Given the description of an element on the screen output the (x, y) to click on. 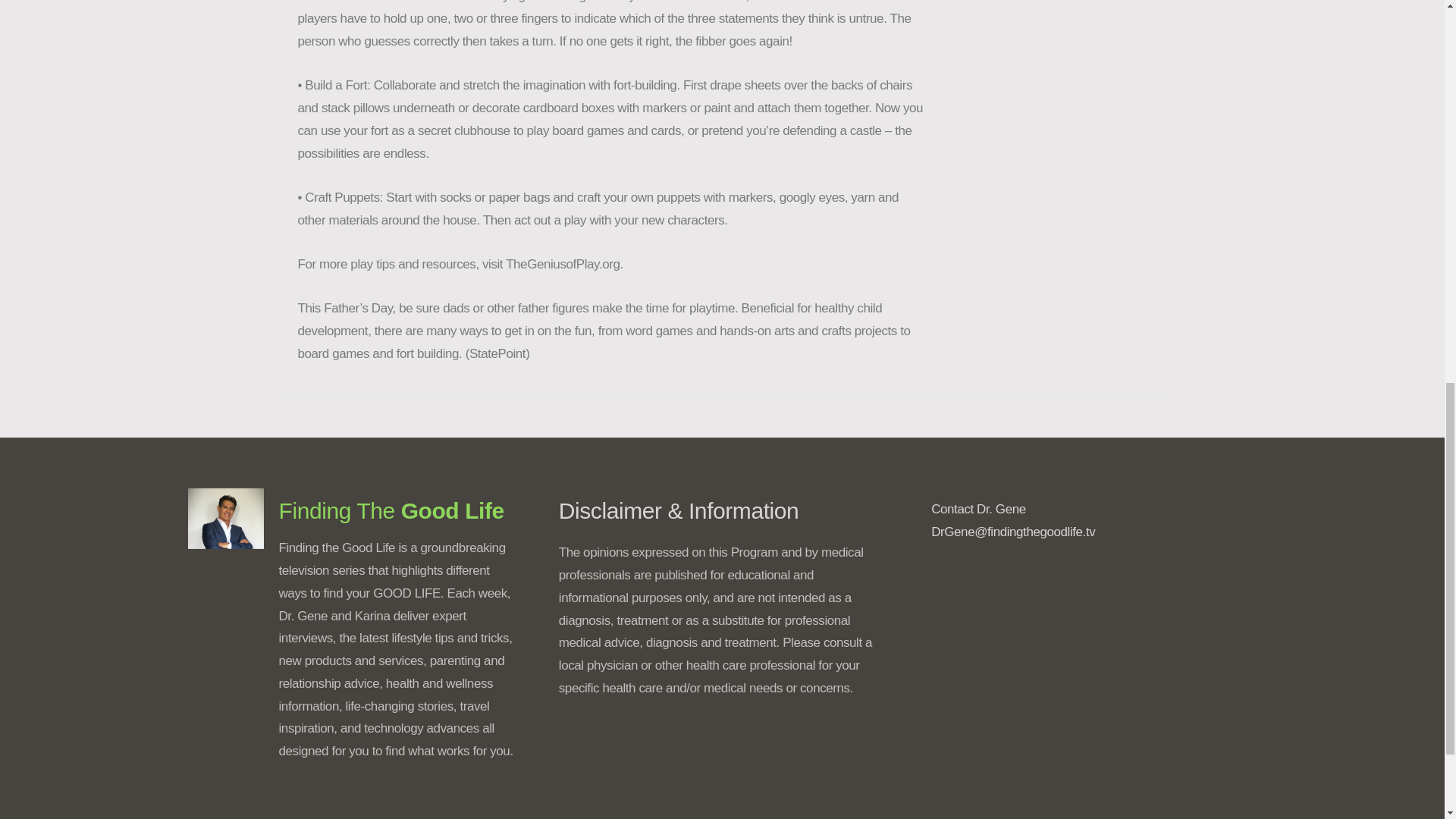
Finding The Good Life (391, 510)
